Given the description of an element on the screen output the (x, y) to click on. 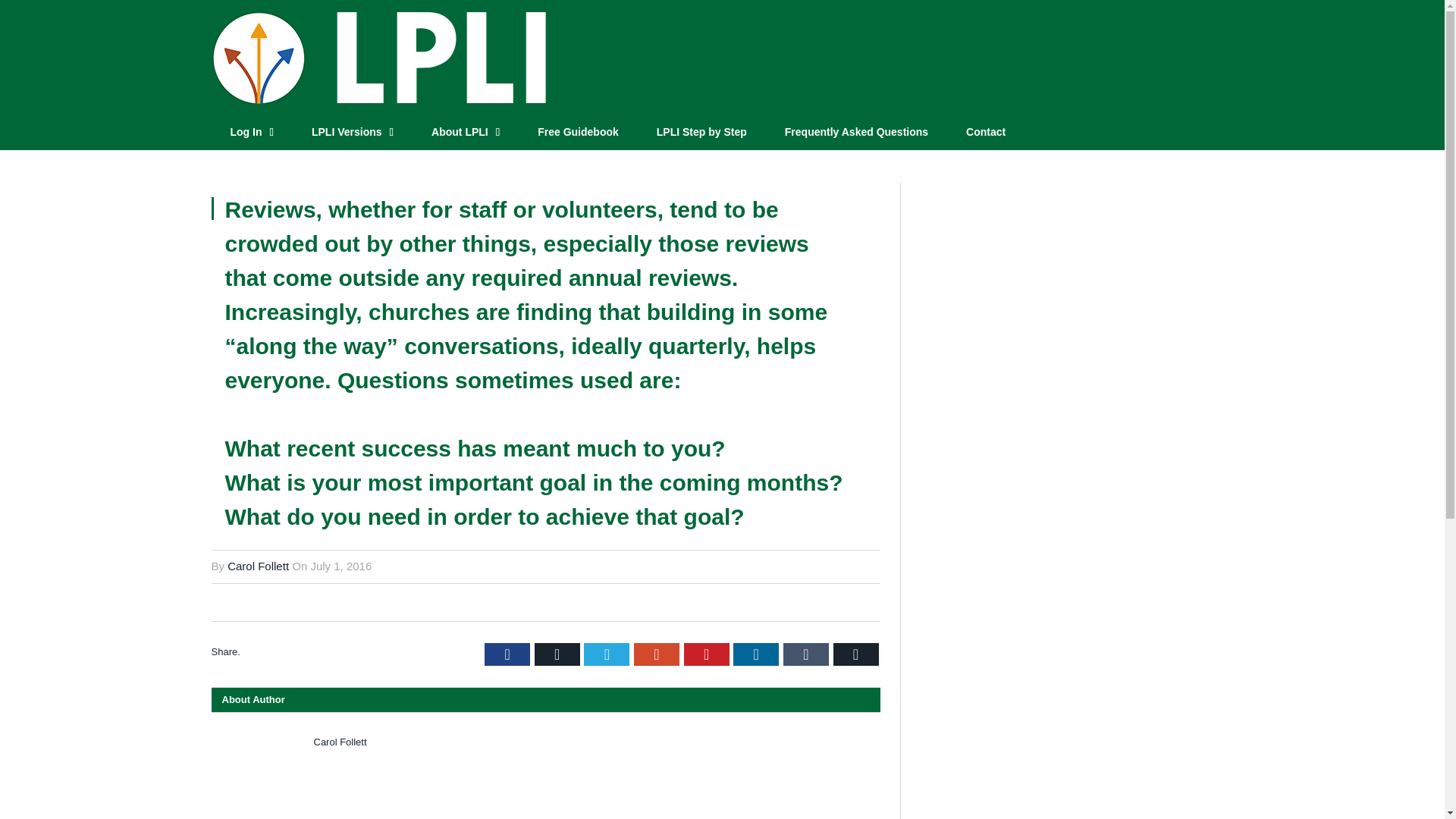
Carol Follett (340, 741)
2016-07-01 (340, 565)
Print (854, 653)
Contact (986, 132)
Carol Follett (257, 565)
Posts by Carol Follett (257, 565)
Tumblr (805, 653)
About LPLI (465, 132)
Facebook (506, 653)
Free Guidebook (577, 132)
LPLI Step by Step (701, 132)
Frequently Asked Questions (856, 132)
Twitter (605, 653)
LinkedIn (755, 653)
LPLI Versions (352, 132)
